Given the description of an element on the screen output the (x, y) to click on. 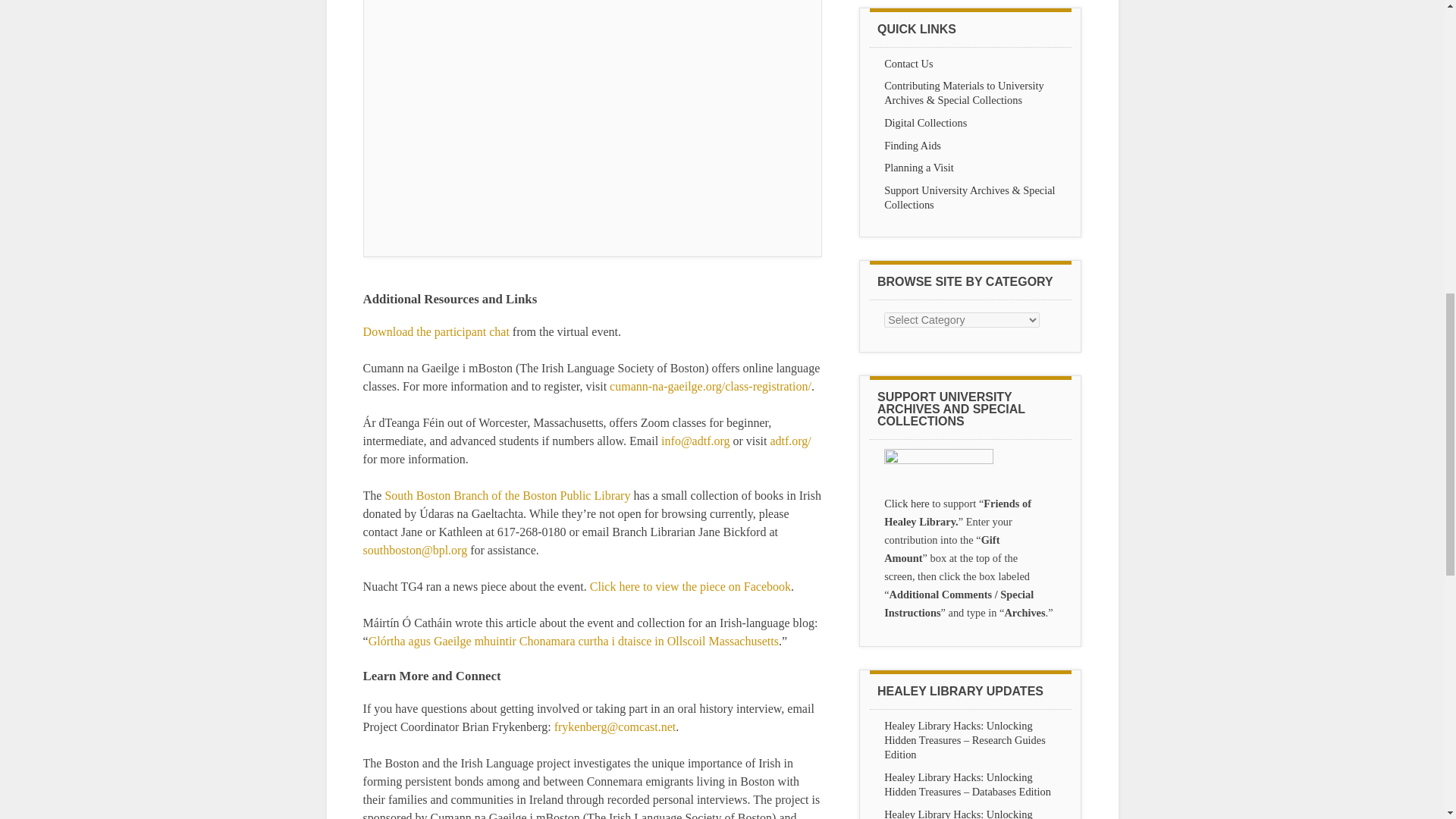
Explore our collection descriptions and finding aids. (911, 145)
Explore our digital collections and finding aids. (924, 122)
Contact Archives staff (908, 63)
